Given the description of an element on the screen output the (x, y) to click on. 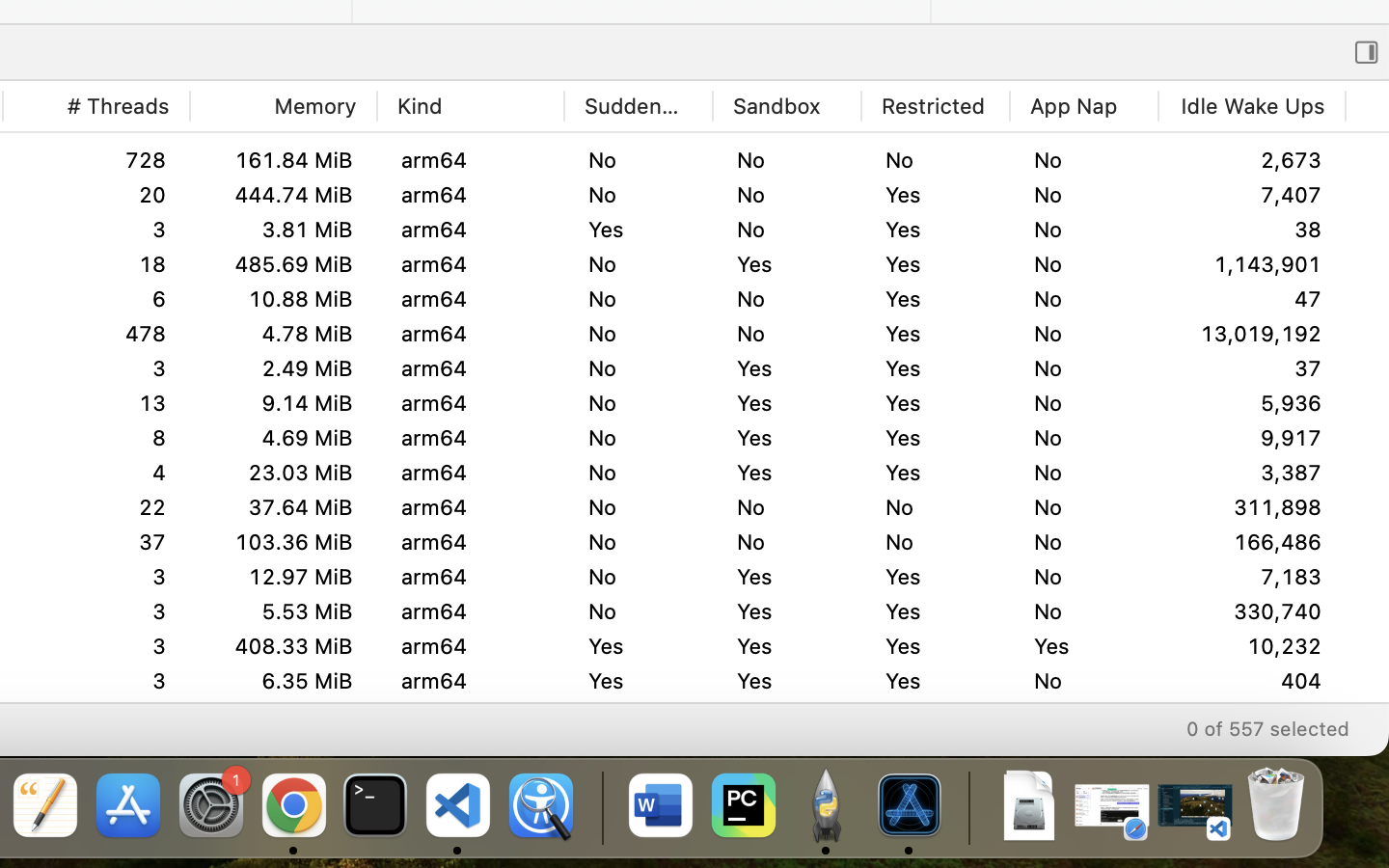
1,255 Element type: AXStaticText (1251, 611)
311,718 Element type: AXStaticText (1251, 541)
4.78 MiB Element type: AXStaticText (283, 333)
330,673 Element type: AXStaticText (1251, 715)
No Element type: AXStaticText (1084, 437)
